Given the description of an element on the screen output the (x, y) to click on. 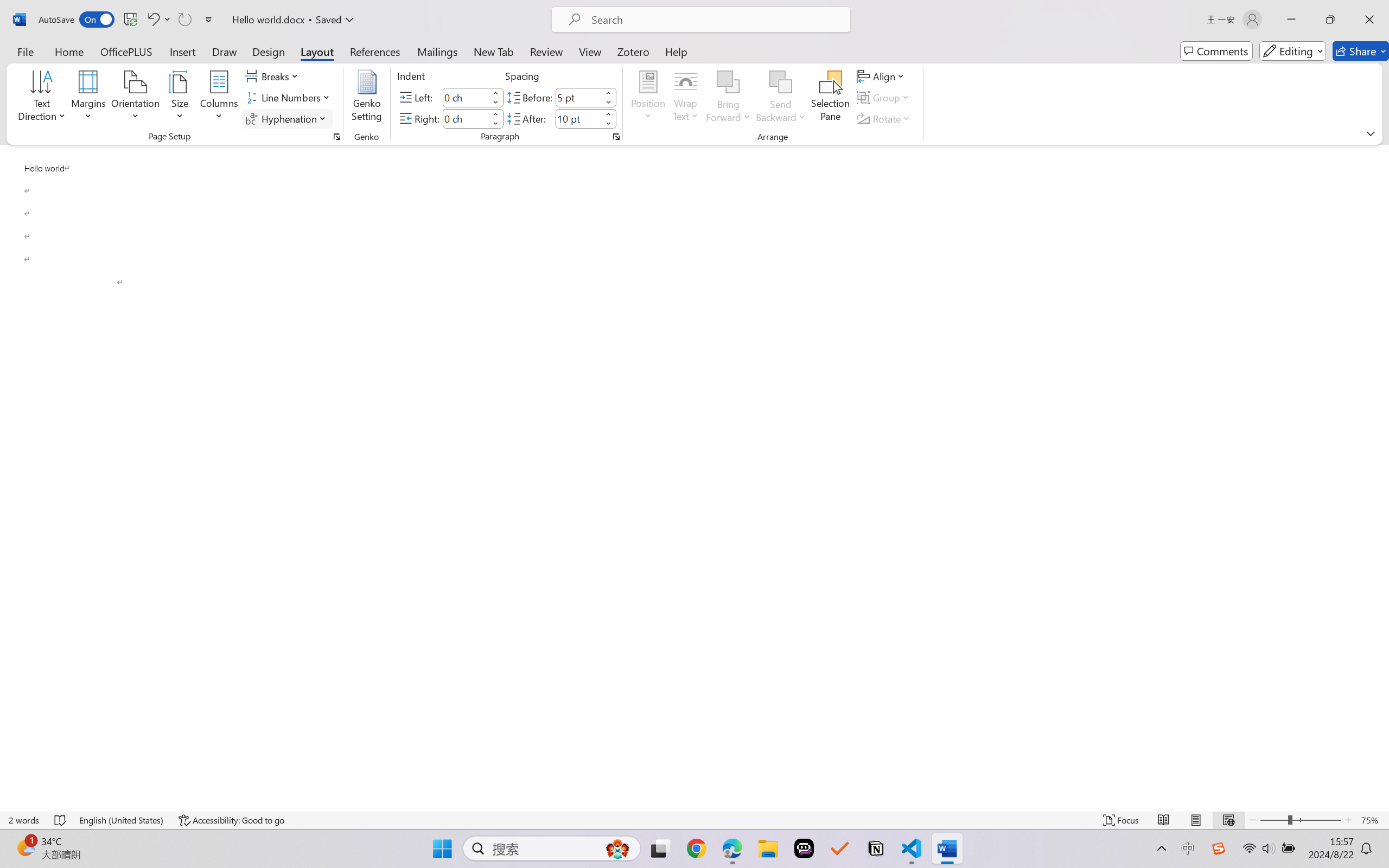
Page Setup... (336, 136)
Orientation (135, 97)
Focus  (1121, 819)
File Tab (24, 51)
More Options (781, 112)
Bring Forward (728, 81)
Indent Left (465, 96)
Position (647, 97)
Layout (316, 51)
Microsoft search (715, 19)
Align (881, 75)
Indent Right (465, 118)
Columns (219, 97)
Save (130, 19)
